Given the description of an element on the screen output the (x, y) to click on. 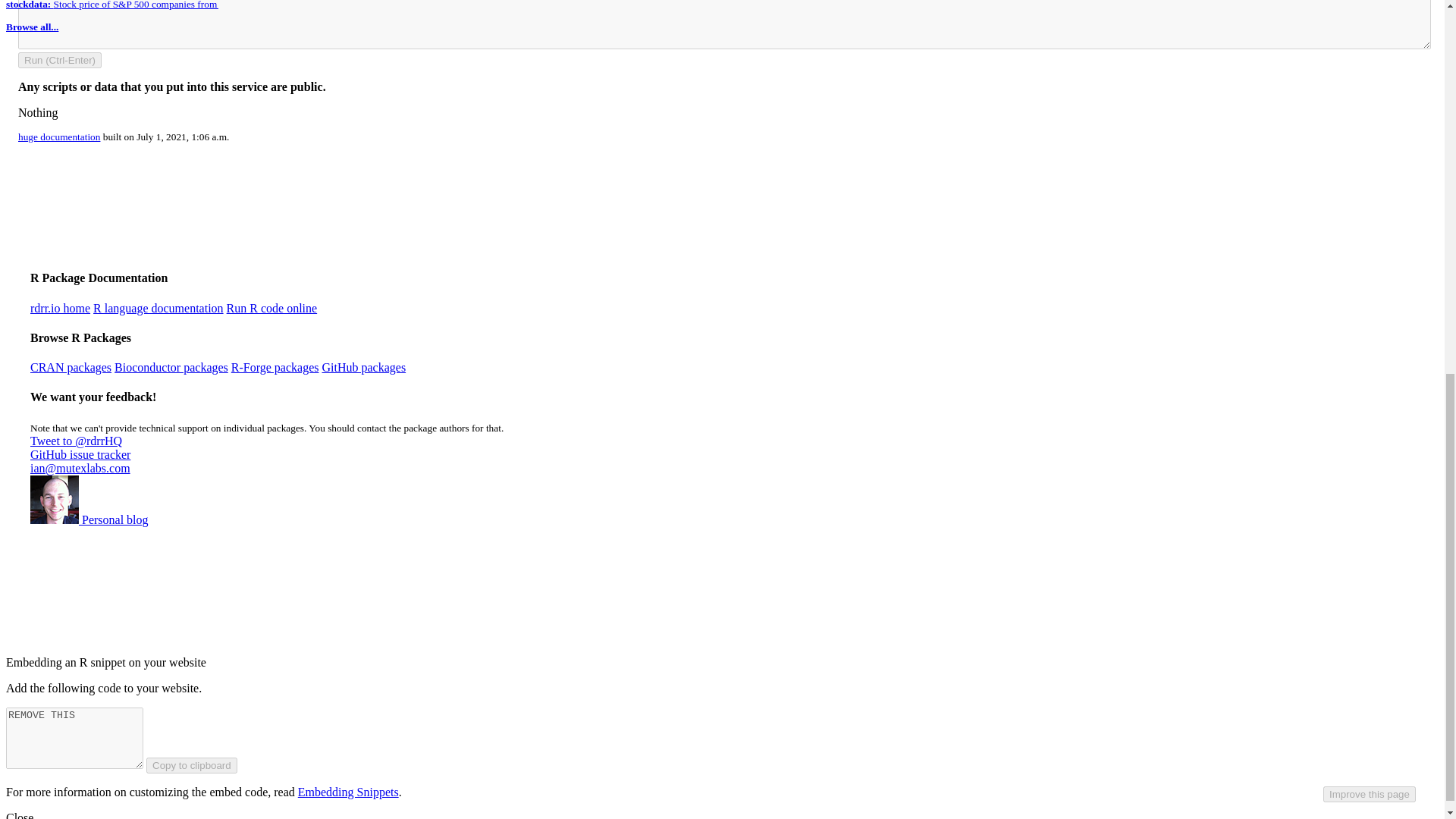
Browse all... (31, 26)
